Given the description of an element on the screen output the (x, y) to click on. 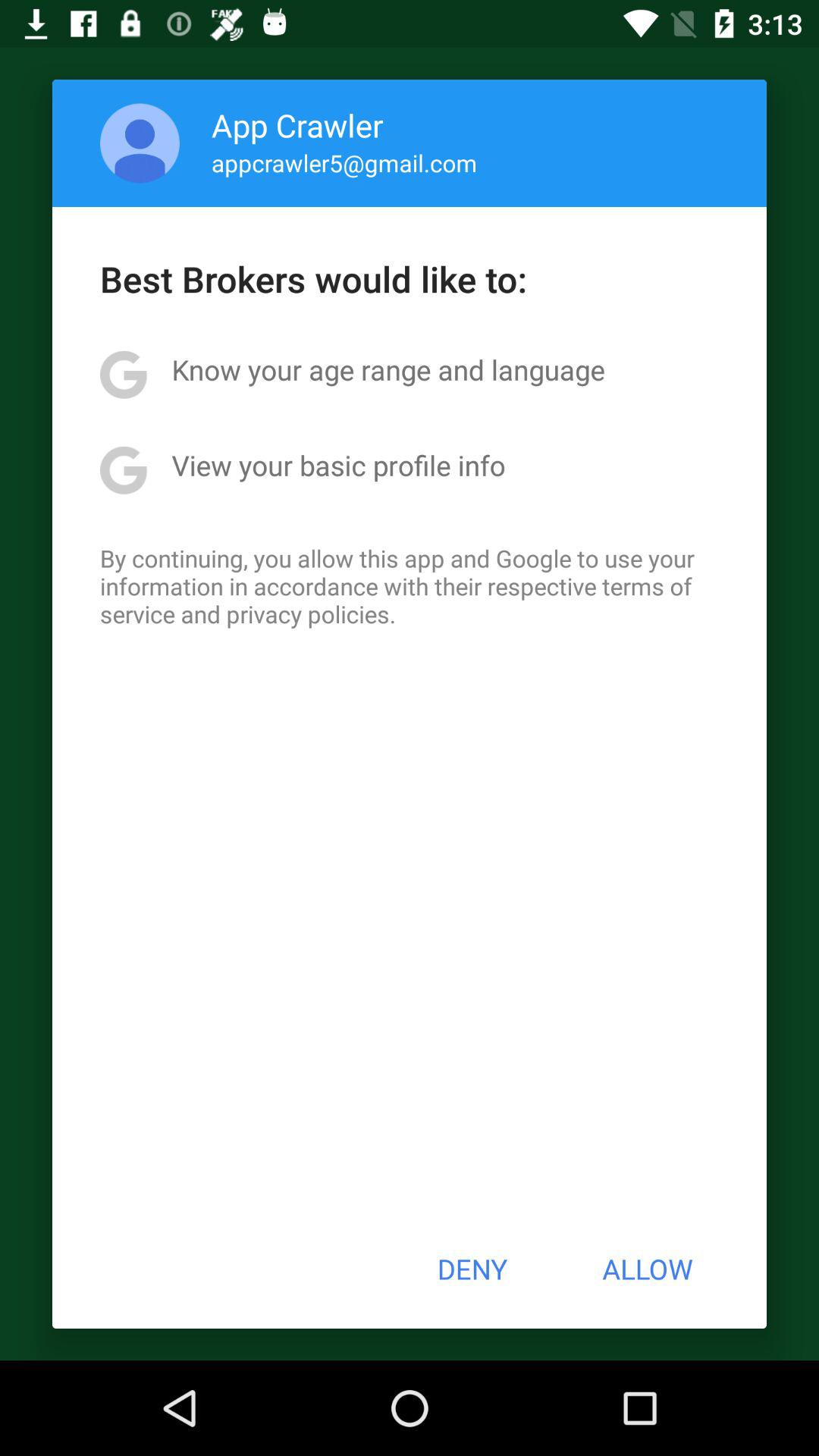
click know your age item (388, 369)
